Given the description of an element on the screen output the (x, y) to click on. 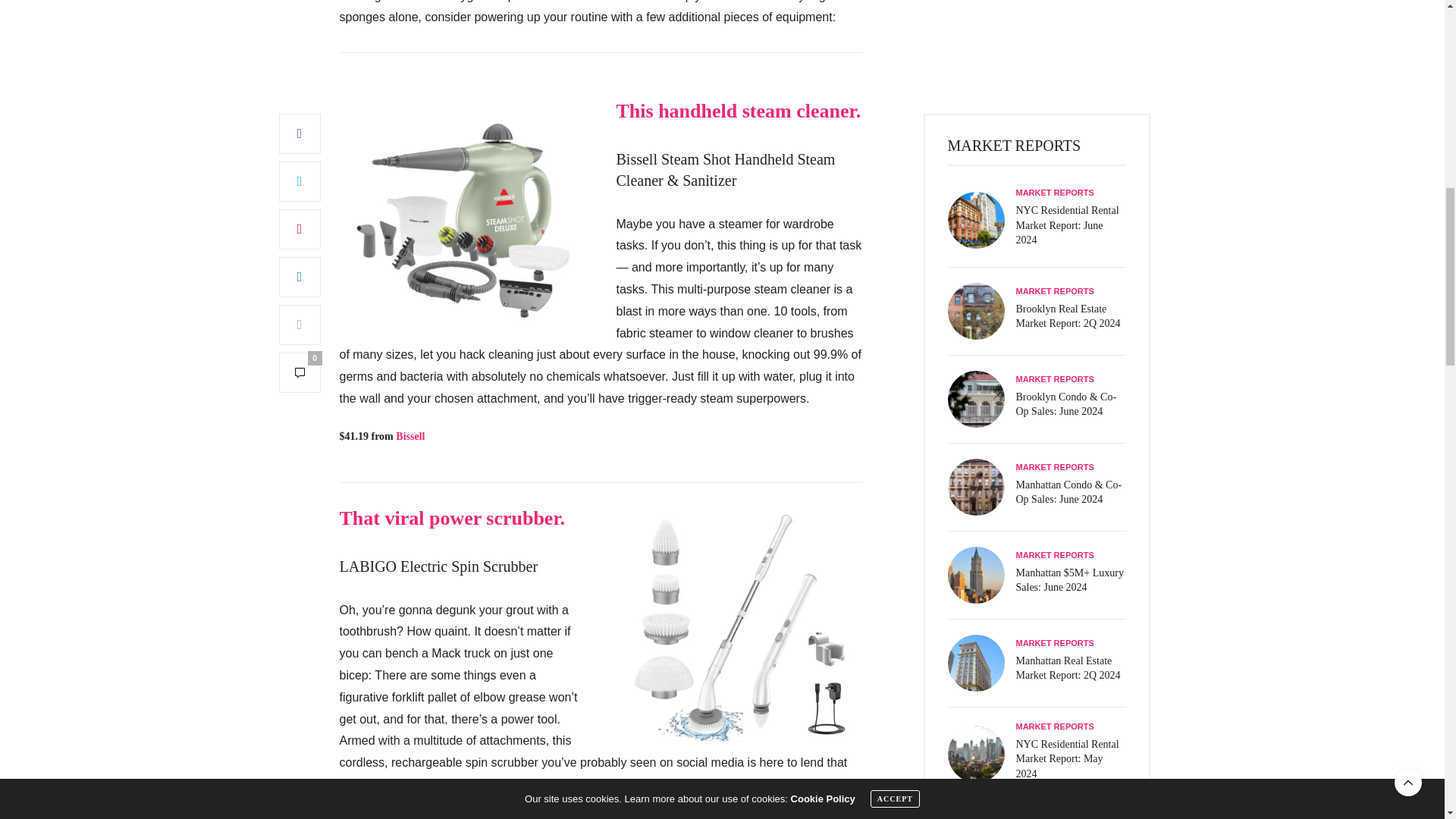
Bissell (410, 436)
This handheld steam cleaner. (737, 110)
That viral power scrubber. (452, 517)
